Given the description of an element on the screen output the (x, y) to click on. 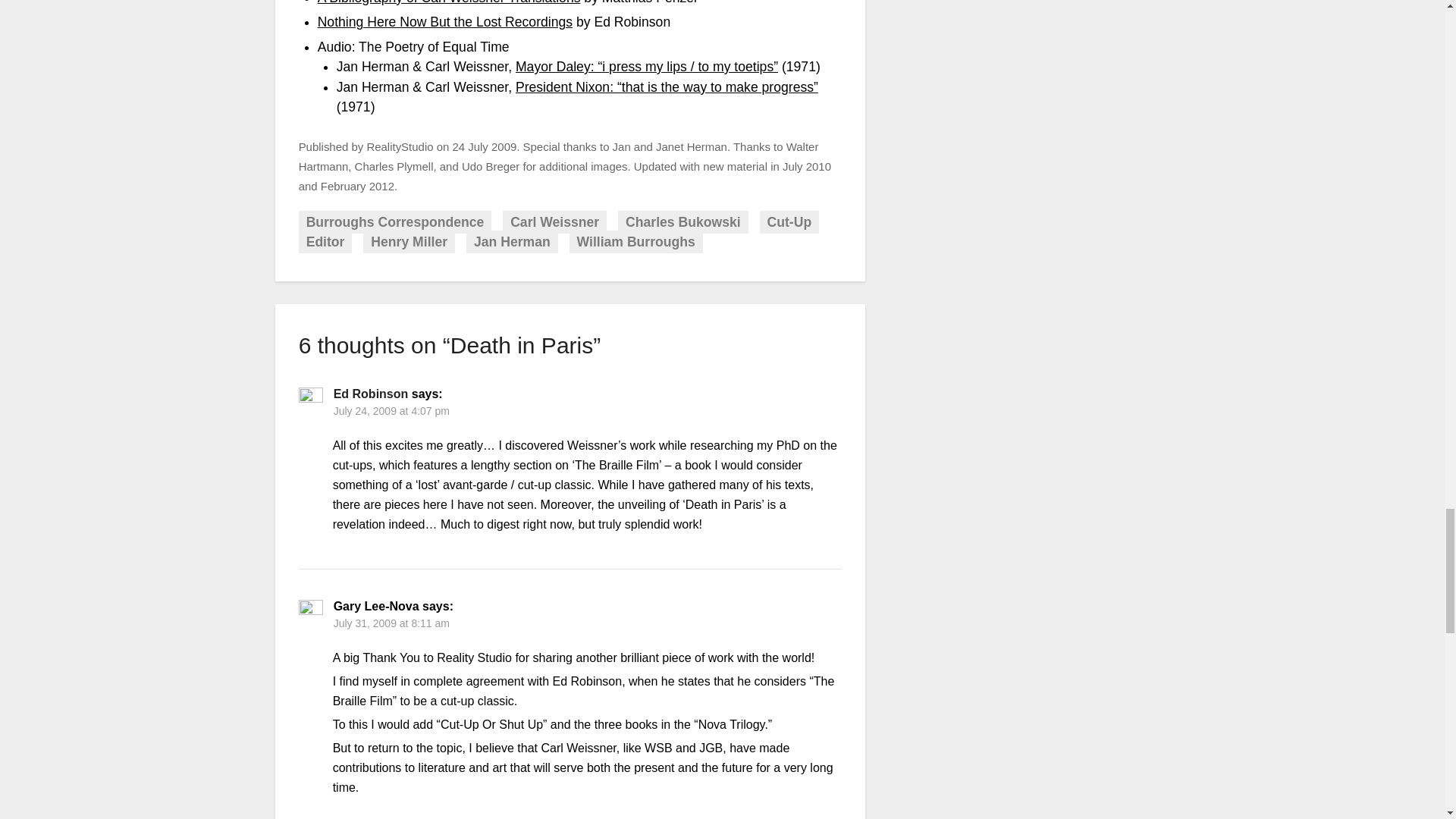
Nothing Here Now But the Lost Recordings (444, 21)
A Bibliography of Carl Weissner Translations (448, 2)
